Given the description of an element on the screen output the (x, y) to click on. 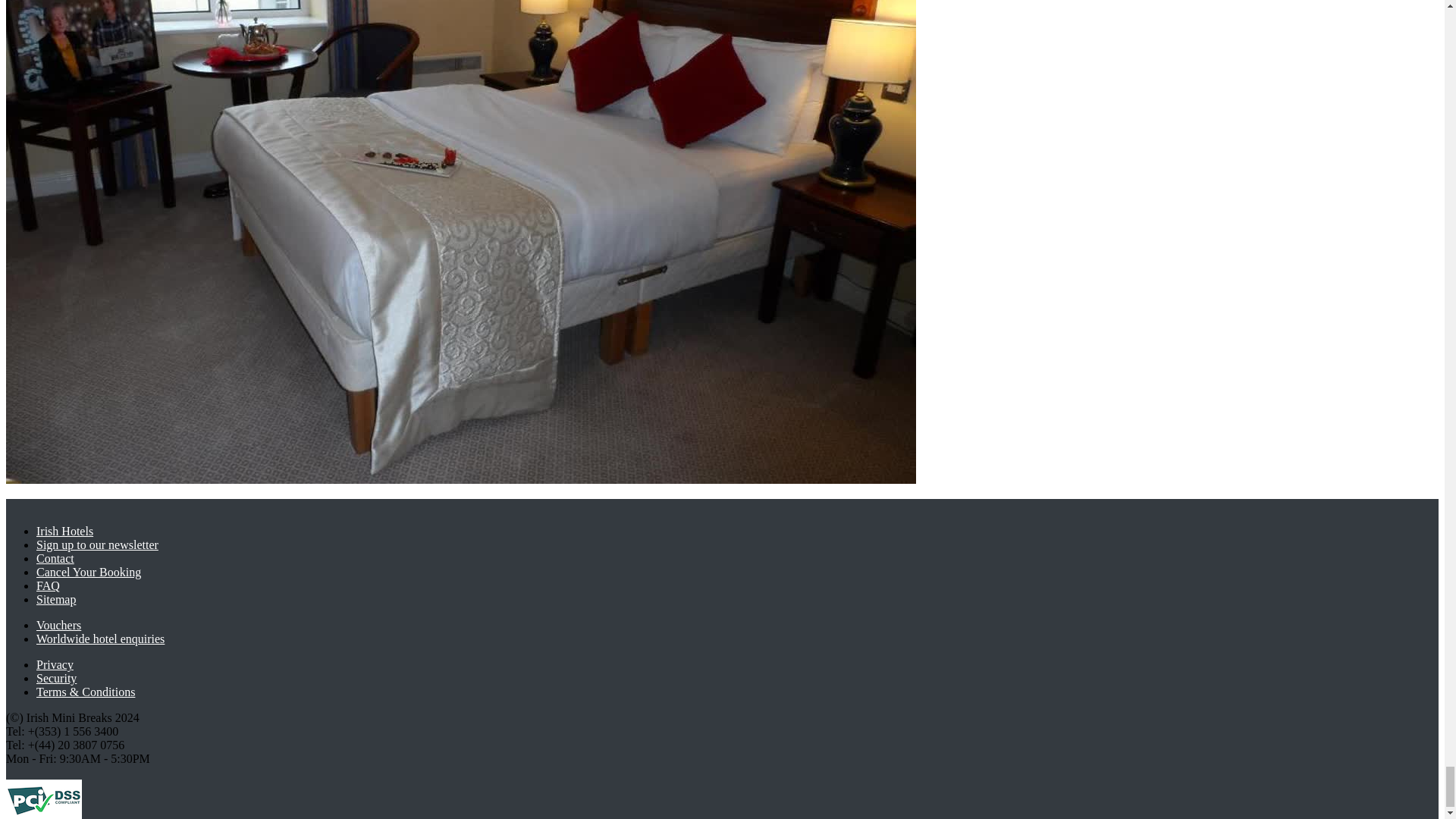
Irish Hotels (64, 530)
Worldwide hotel enquiries (100, 638)
FAQ (47, 585)
Vouchers (58, 625)
Cancel Your Booking (88, 571)
Sign up to our newsletter (97, 544)
Sitemap (55, 599)
Privacy (55, 664)
Contact (55, 558)
Security (56, 677)
